Given the description of an element on the screen output the (x, y) to click on. 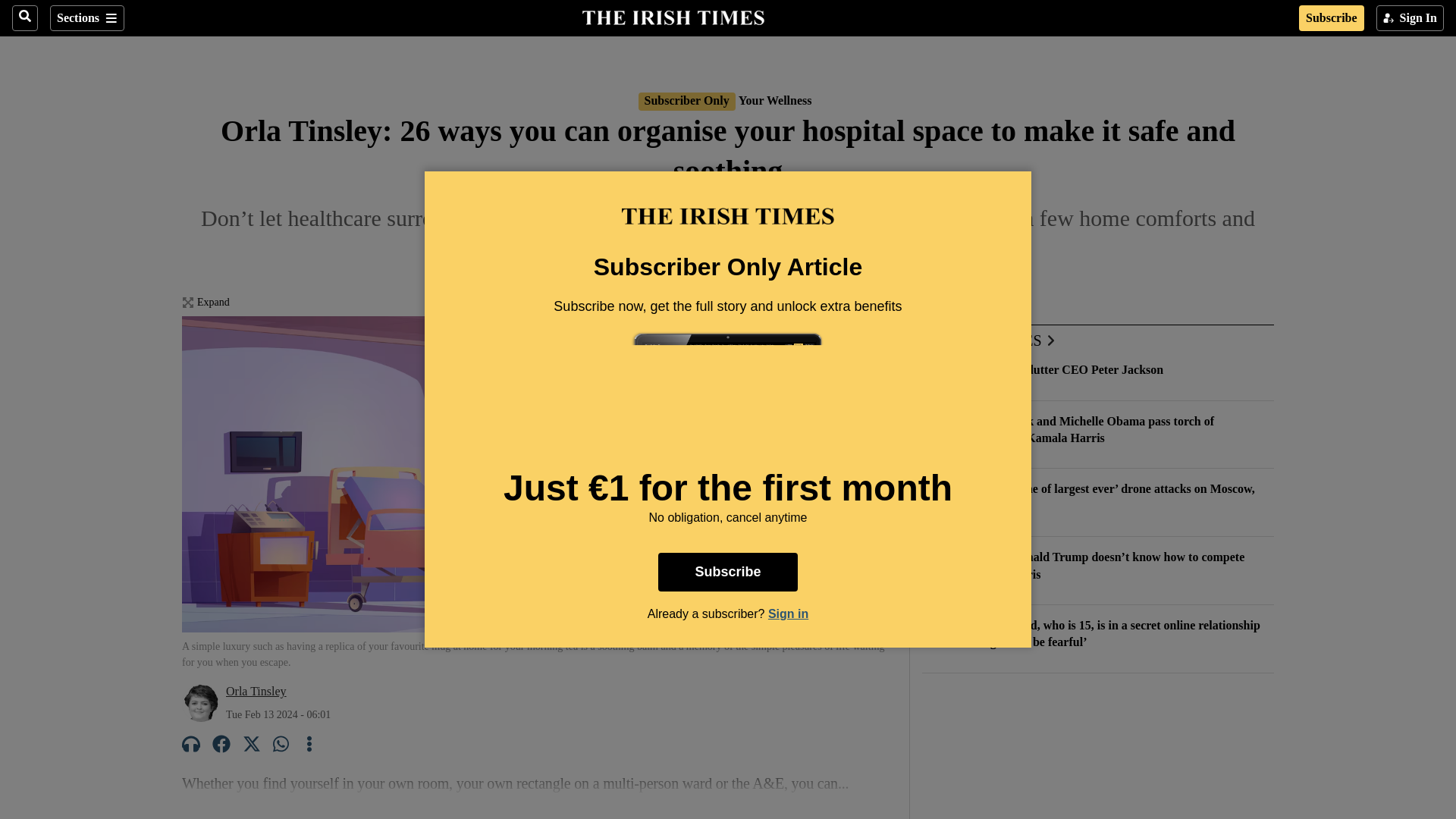
Subscribe (1331, 17)
Sections (86, 17)
The Irish Times (673, 16)
Sign In (1409, 17)
